Given the description of an element on the screen output the (x, y) to click on. 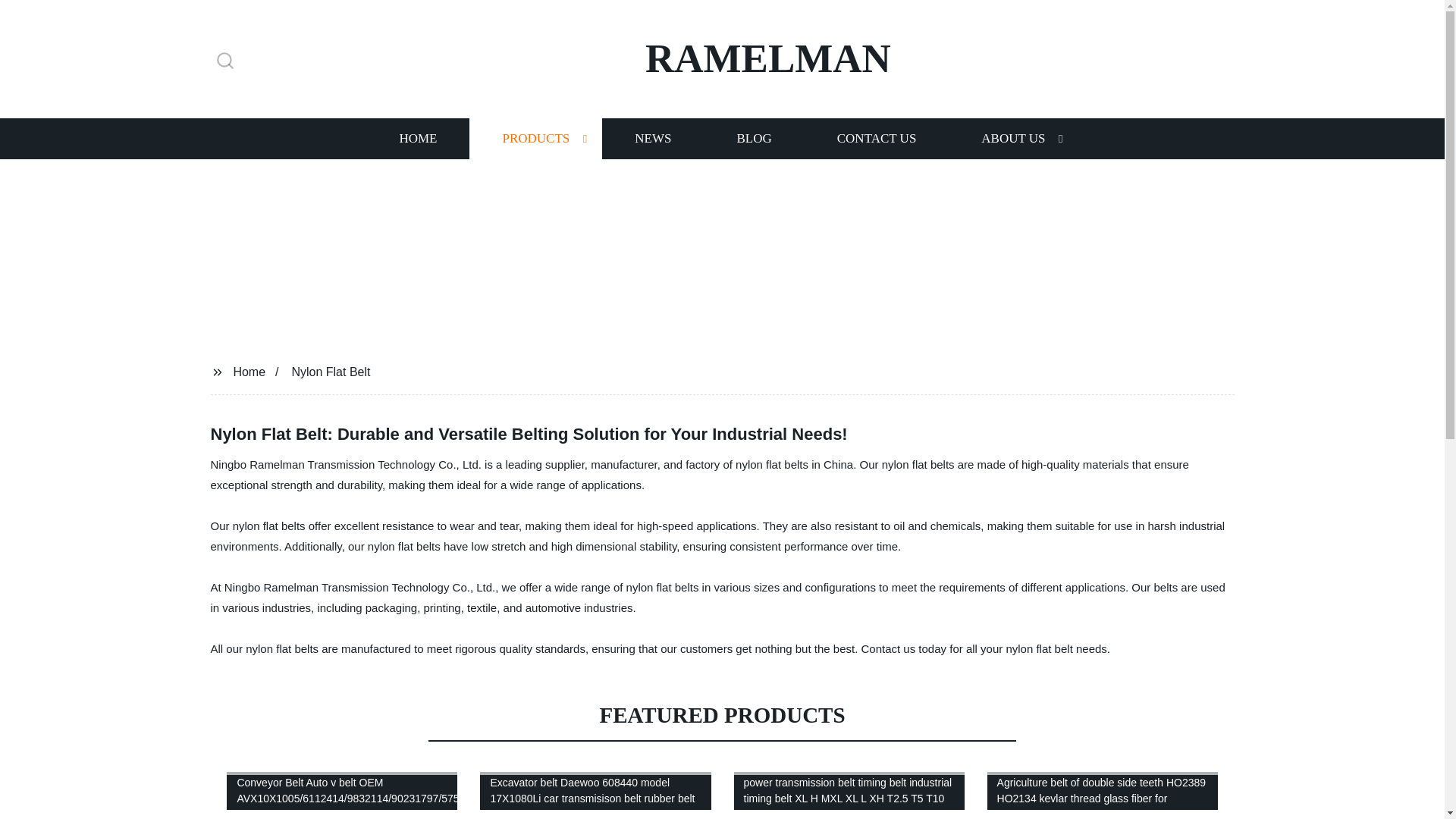
NEWS (652, 137)
PRODUCTS (535, 137)
BLOG (753, 137)
HOME (417, 137)
ABOUT US (1013, 137)
CONTACT US (877, 137)
Nylon Flat Belt (330, 371)
